Given the description of an element on the screen output the (x, y) to click on. 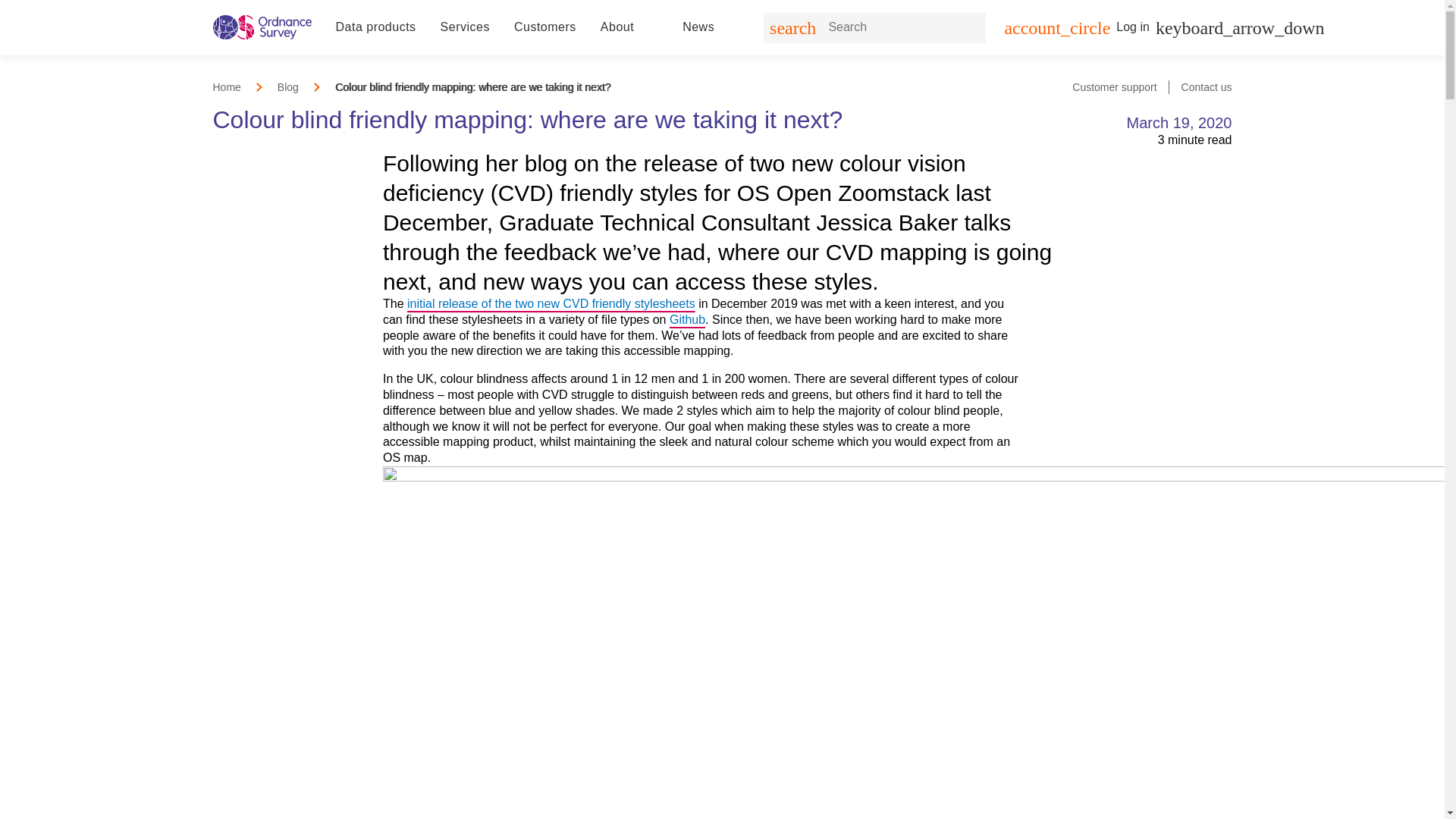
Customers (545, 27)
Contact us (1205, 87)
Home (226, 87)
Data products (375, 27)
Services (465, 27)
Blog (288, 87)
initial release of the two new CVD friendly stylesheets (551, 303)
News (697, 27)
Customer support (1113, 87)
About (617, 27)
